Given the description of an element on the screen output the (x, y) to click on. 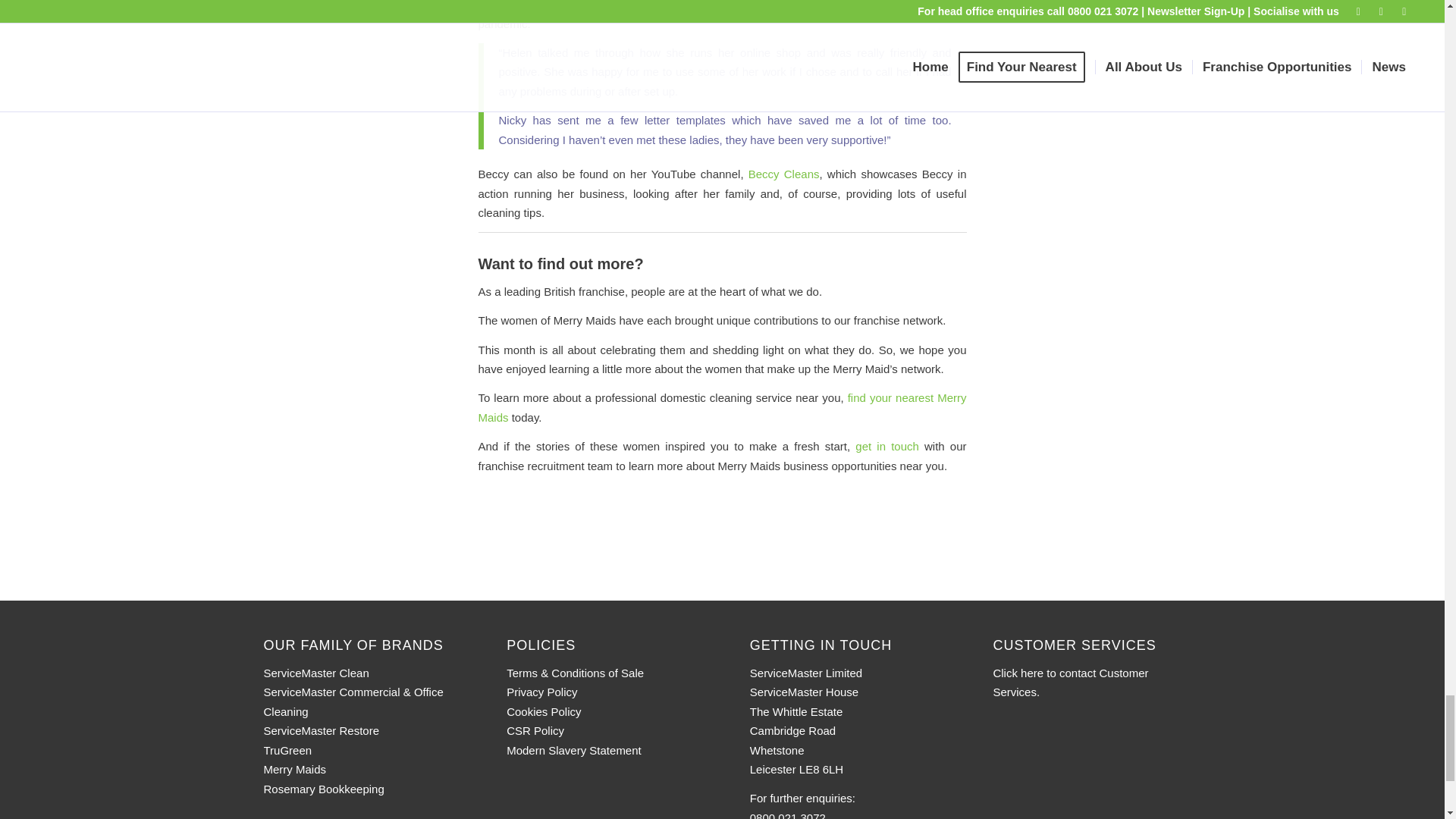
ServiceMaster Restore (321, 730)
ServiceMaster Clean (316, 672)
